Given the description of an element on the screen output the (x, y) to click on. 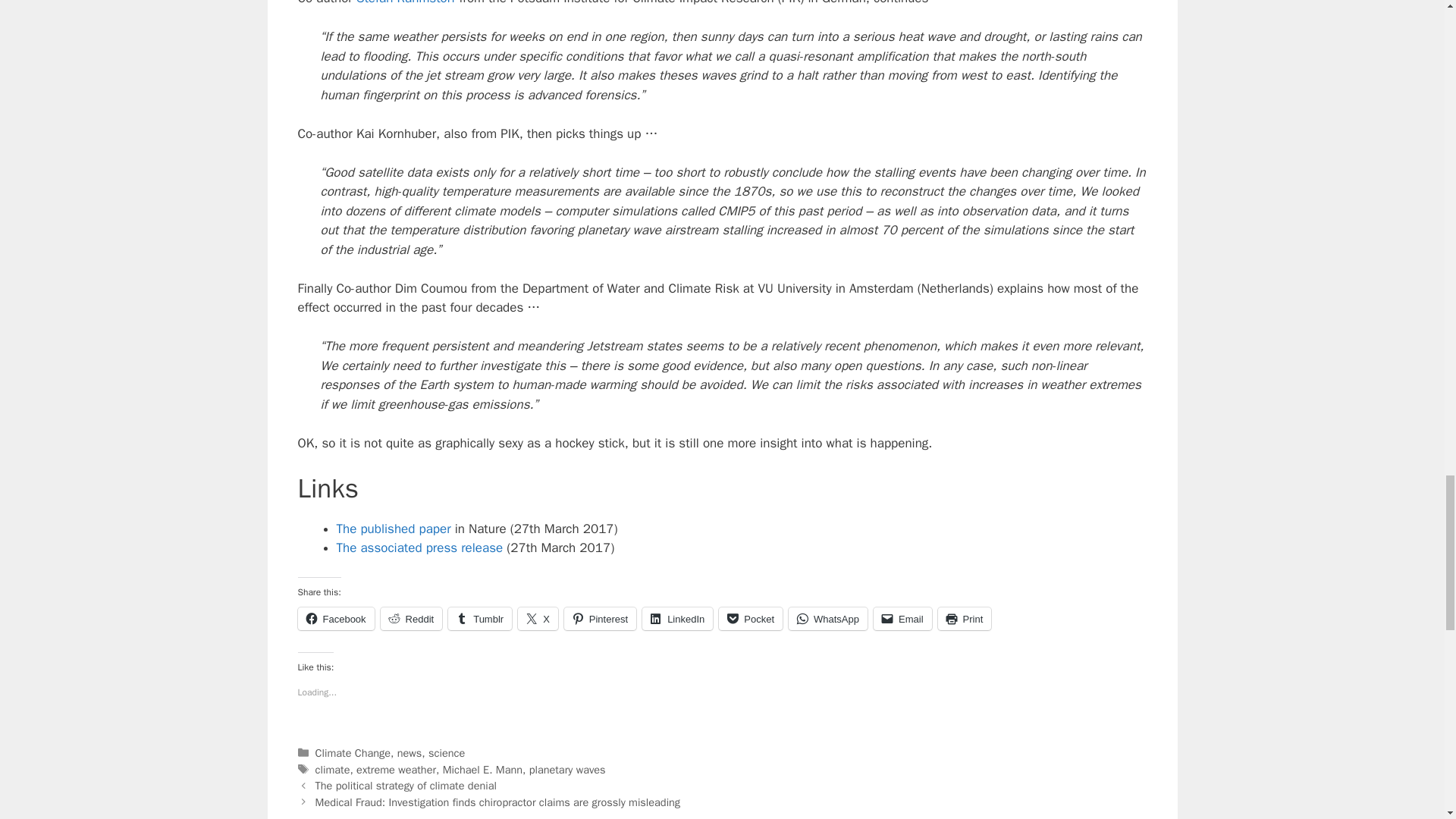
Click to share on Tumblr (480, 618)
Click to share on Facebook (335, 618)
Click to share on WhatsApp (828, 618)
Click to share on Pocket (751, 618)
Click to share on X (537, 618)
Click to share on Pinterest (600, 618)
Click to email a link to a friend (902, 618)
Click to share on Reddit (411, 618)
Click to share on LinkedIn (677, 618)
